Given the description of an element on the screen output the (x, y) to click on. 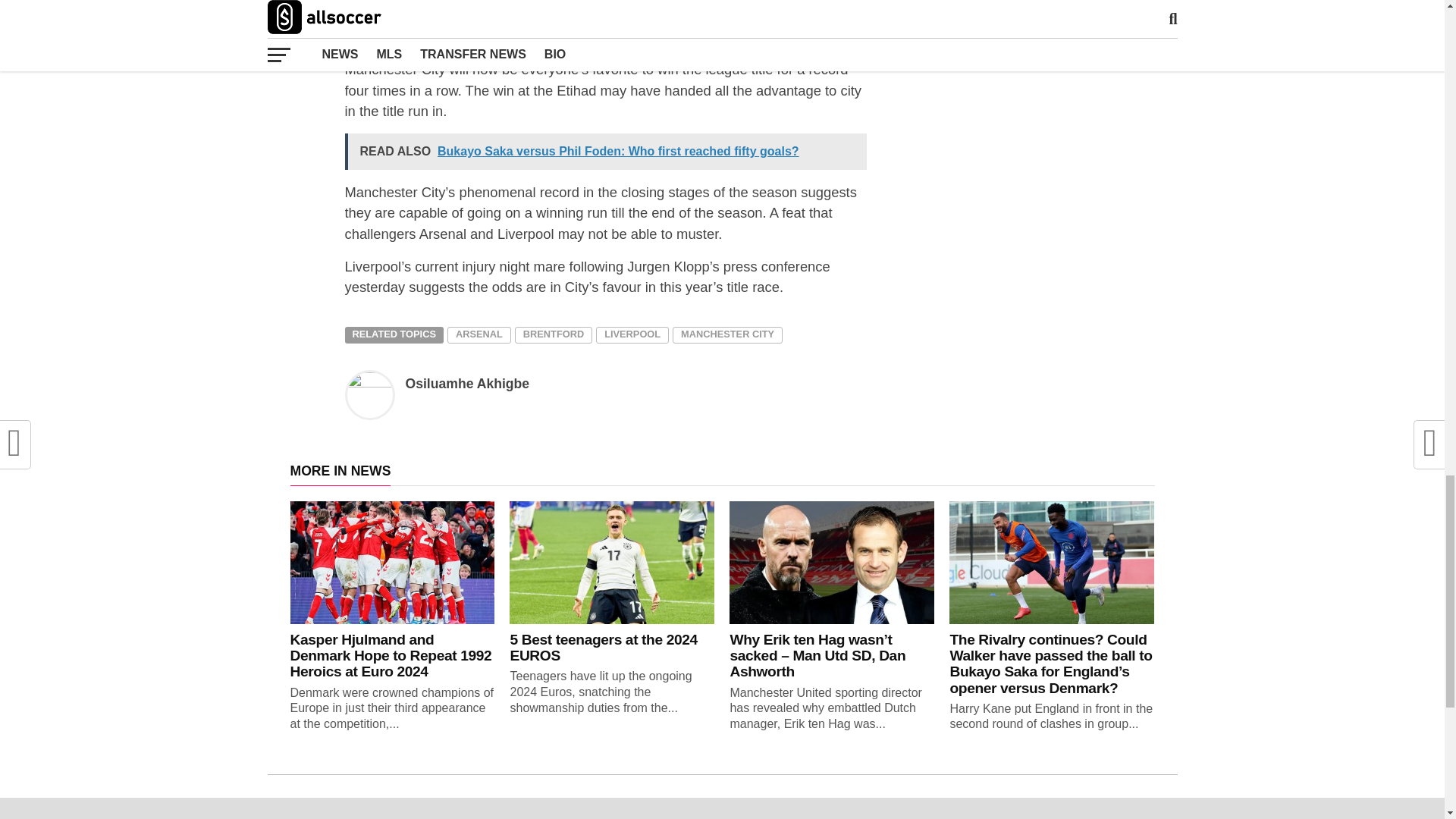
BRENTFORD (553, 334)
ARSENAL (478, 334)
Osiluamhe Akhigbe (466, 383)
Posts by Osiluamhe Akhigbe (466, 383)
MANCHESTER CITY (727, 334)
LIVERPOOL (631, 334)
